Given the description of an element on the screen output the (x, y) to click on. 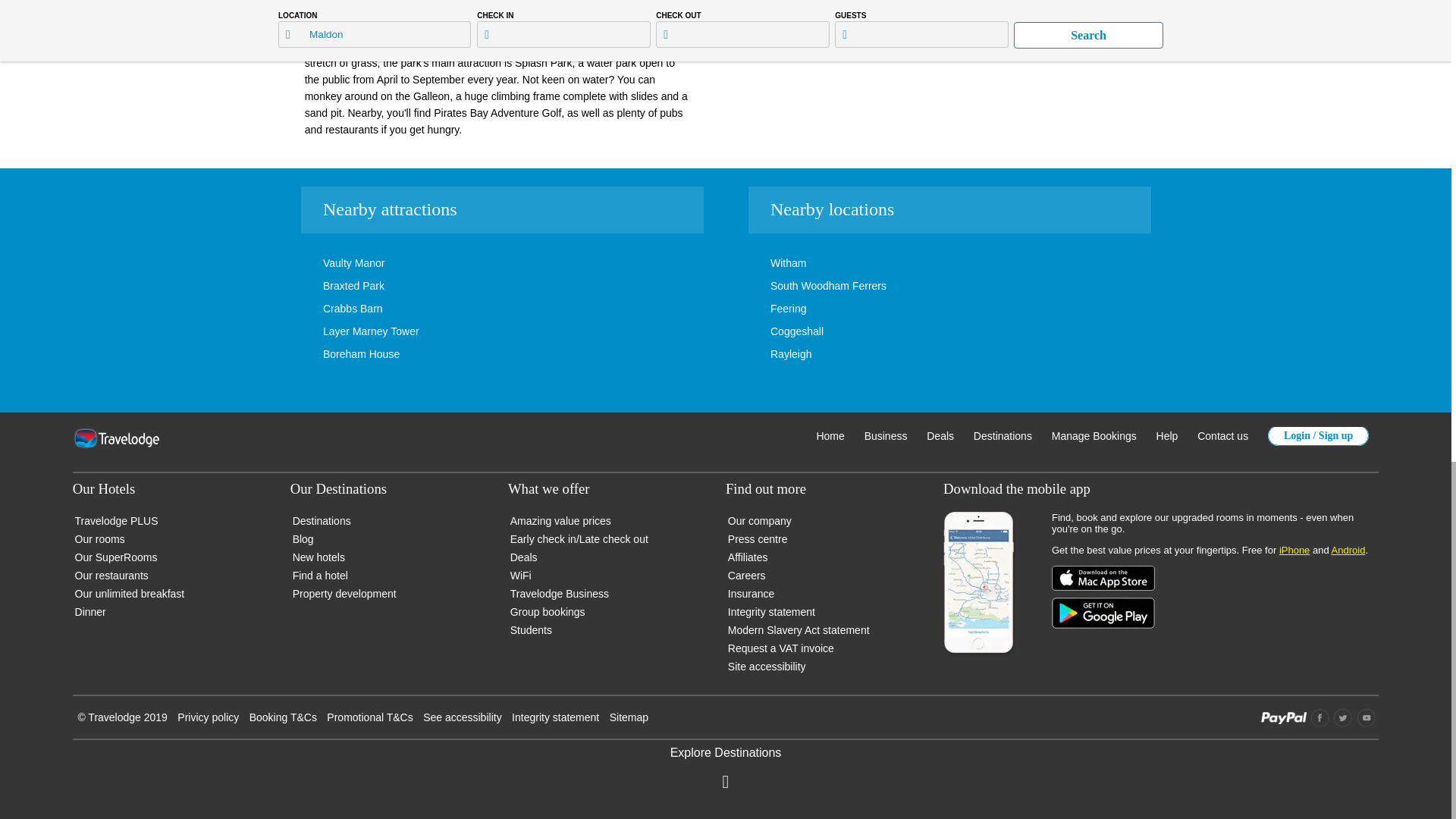
paypal (1283, 720)
YouTube (1365, 718)
YouTube  (1365, 723)
Twitter (1342, 718)
Rayleigh (767, 354)
South Woodham Ferrers (805, 285)
Facebook (1320, 718)
Boreham House (338, 354)
Braxted Park (331, 285)
Crabbs Barn (330, 308)
